Given the description of an element on the screen output the (x, y) to click on. 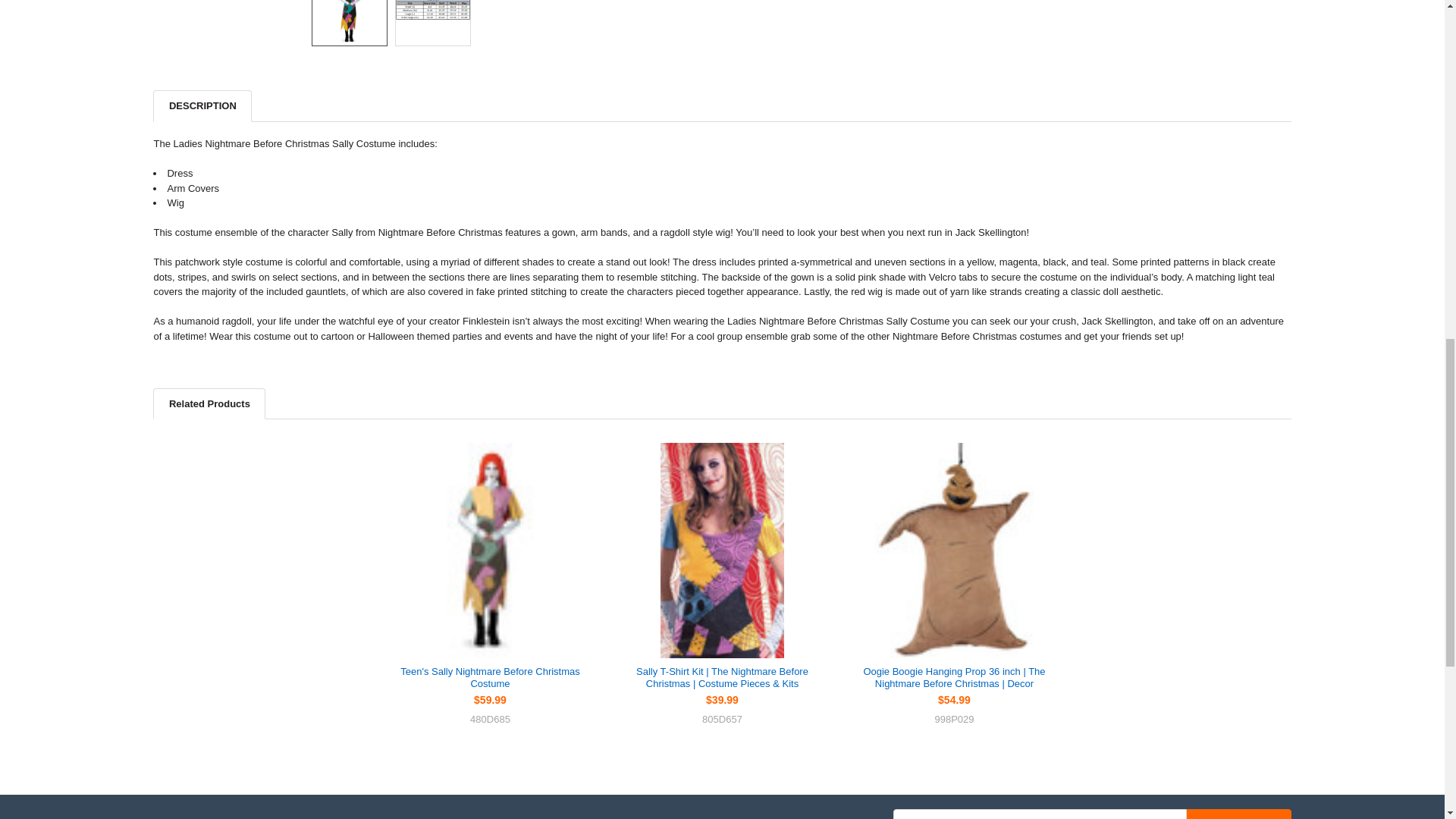
Teen's Sally Nightmare Before Christmas Costume (488, 550)
Ladies Nightmare Before Christmas Sally Costume (350, 22)
Subscribe (1238, 814)
Sally The Nightmare Before Christmas Costume (433, 10)
